Given the description of an element on the screen output the (x, y) to click on. 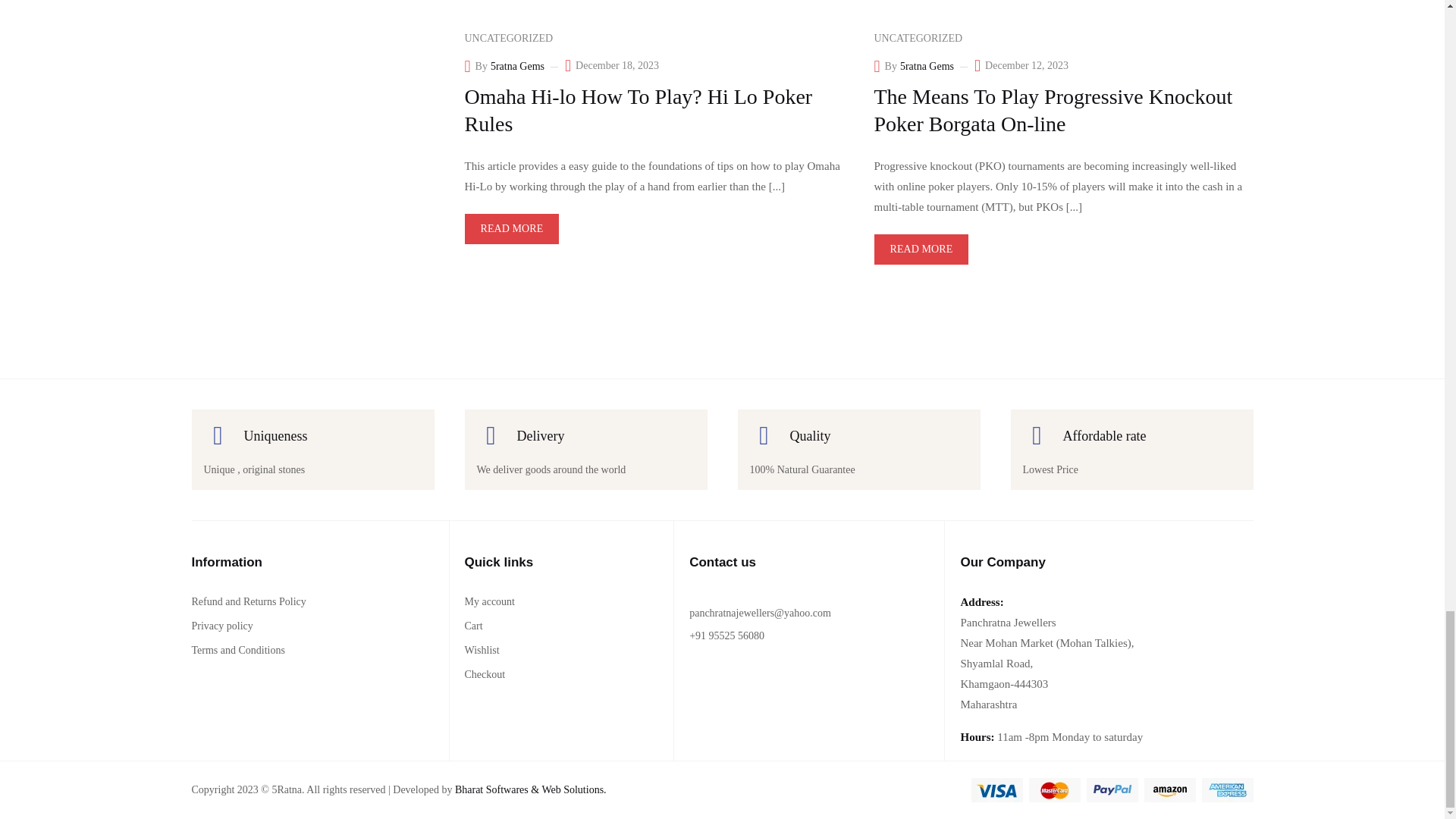
View all posts in Uncategorized (917, 38)
Read more (511, 228)
View all posts in Uncategorized (508, 38)
Posts by 5ratna gems (517, 66)
